Given the description of an element on the screen output the (x, y) to click on. 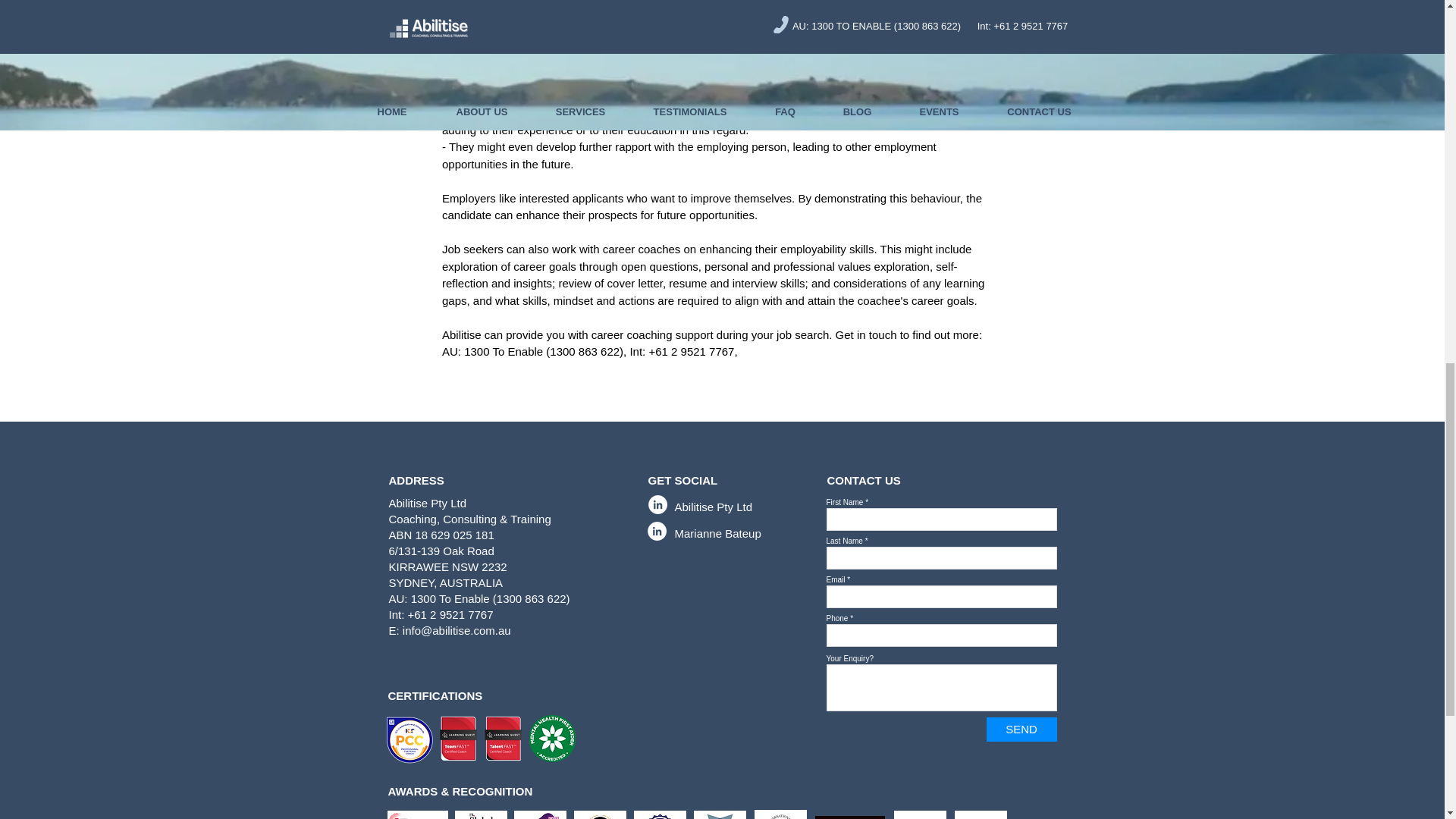
SEND (1021, 729)
